Given the description of an element on the screen output the (x, y) to click on. 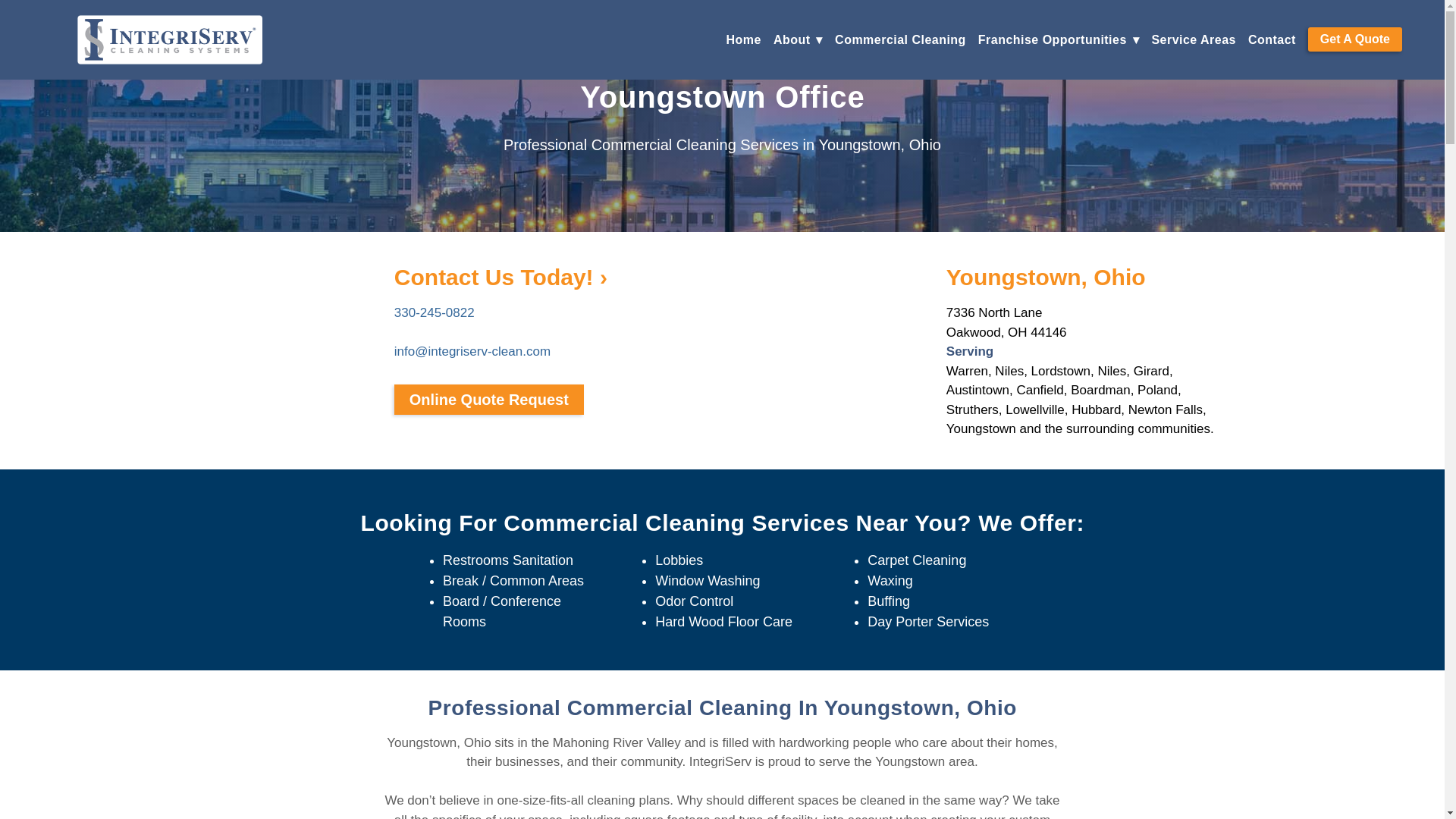
Commercial Cleaning (900, 39)
Service Areas (1193, 39)
Home (743, 39)
Contact (1271, 39)
330-245-0822 (434, 312)
Contact Us Today! (500, 276)
IntegriServ Cleaning Systems (169, 39)
Online Quote Request (488, 399)
Get A Quote (1354, 39)
